Given the description of an element on the screen output the (x, y) to click on. 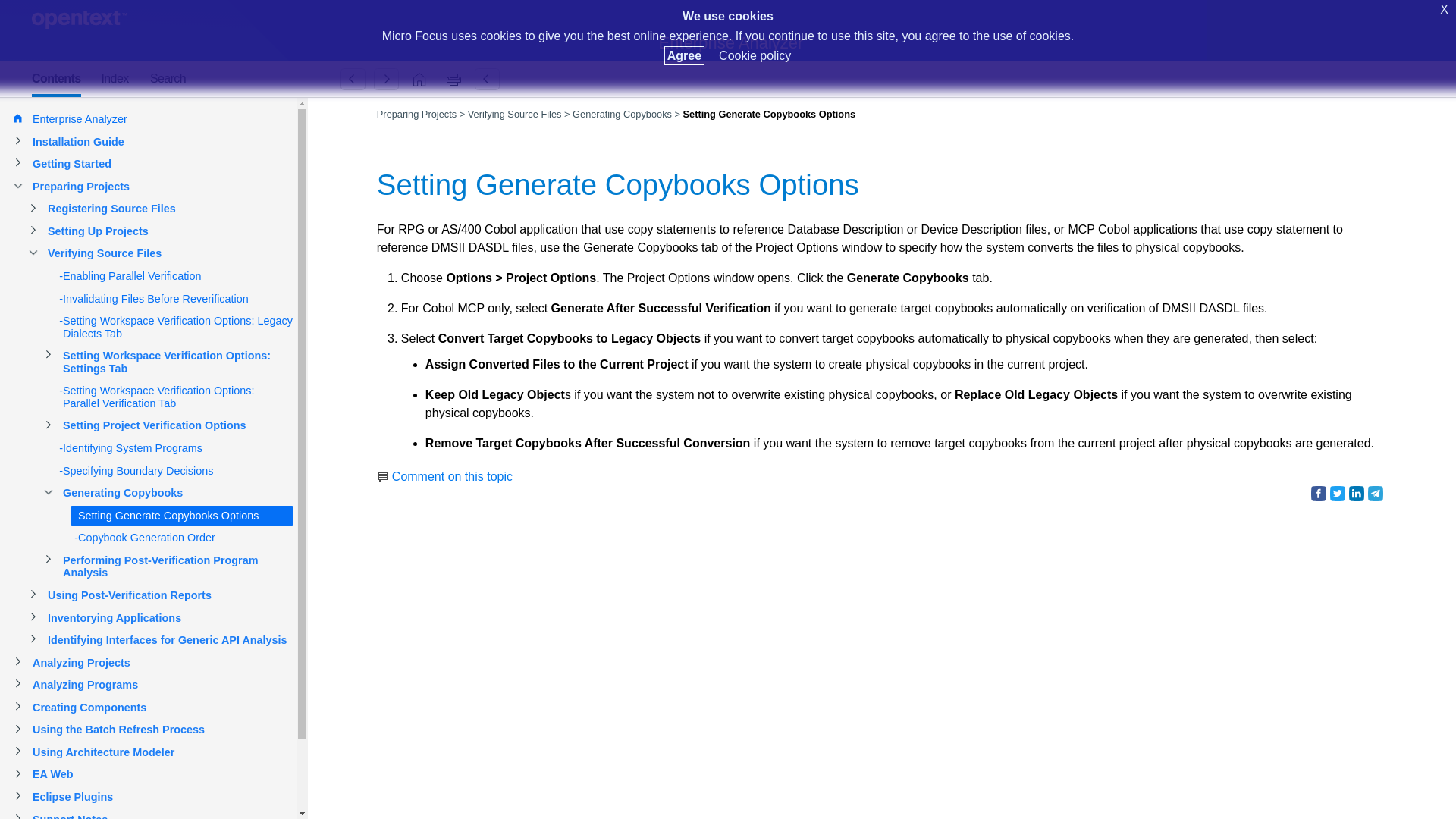
Copybook Generation Order (386, 78)
Cookie policy (754, 55)
Generating Copybooks (352, 78)
Agree (684, 55)
